Given the description of an element on the screen output the (x, y) to click on. 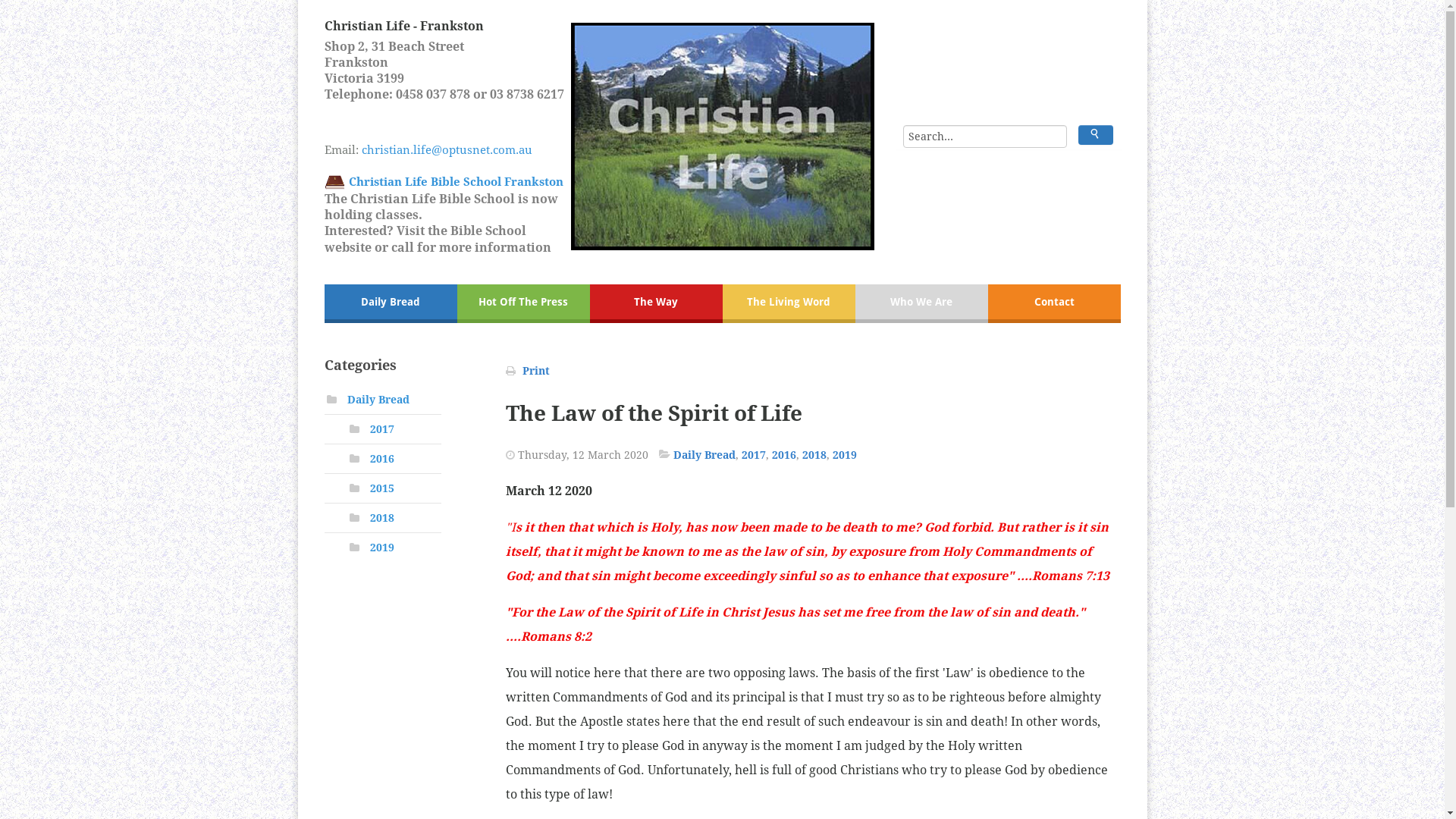
Who We Are Element type: text (921, 303)
Print Element type: text (535, 370)
2016 Element type: text (382, 458)
2019 Element type: text (844, 454)
The Way Element type: text (655, 303)
2018 Element type: text (814, 454)
Daily Bread Element type: text (378, 399)
The Living Word Element type: text (787, 303)
2016 Element type: text (783, 454)
Hot Off The Press Element type: text (522, 303)
2015 Element type: text (382, 488)
Search Element type: hover (1095, 134)
2018 Element type: text (382, 517)
 Christian Life Bible School Frankston Element type: text (454, 181)
Daily Bread Element type: text (390, 303)
Daily Bread Element type: text (704, 454)
2017 Element type: text (382, 429)
2019 Element type: text (382, 547)
Contact Element type: text (1053, 303)
christian.life@optusnet.com.au Element type: text (464, 157)
2017 Element type: text (753, 454)
